Given the description of an element on the screen output the (x, y) to click on. 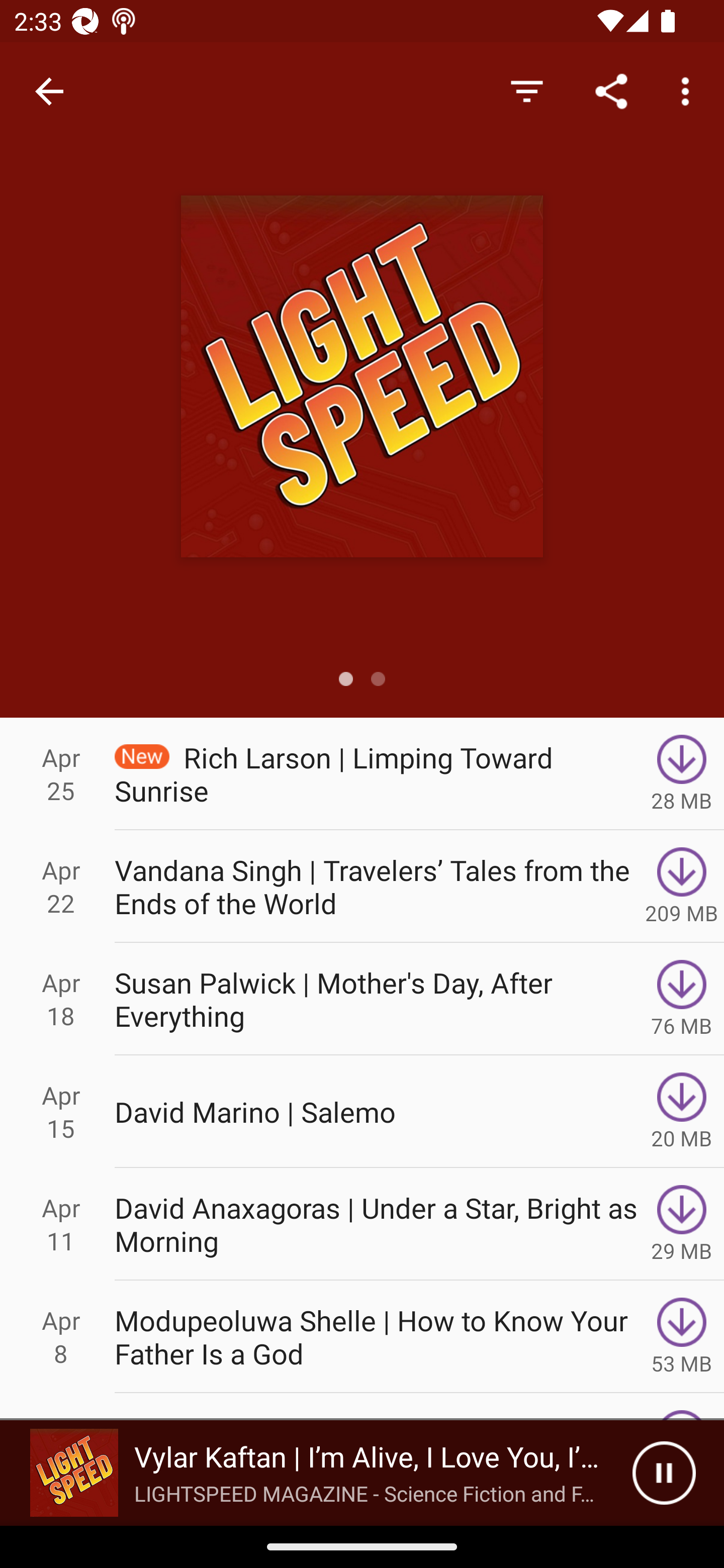
Navigate up (49, 91)
Hide Episodes (526, 90)
Share Link (611, 90)
More options (688, 90)
Download 28 MB (681, 773)
Download 209 MB (681, 885)
Download 76 MB (681, 998)
Apr 15 David Marino | Salemo Download 20 MB (362, 1111)
Download 20 MB (681, 1111)
Download 29 MB (681, 1224)
Download 53 MB (681, 1336)
Pause (663, 1472)
